Given the description of an element on the screen output the (x, y) to click on. 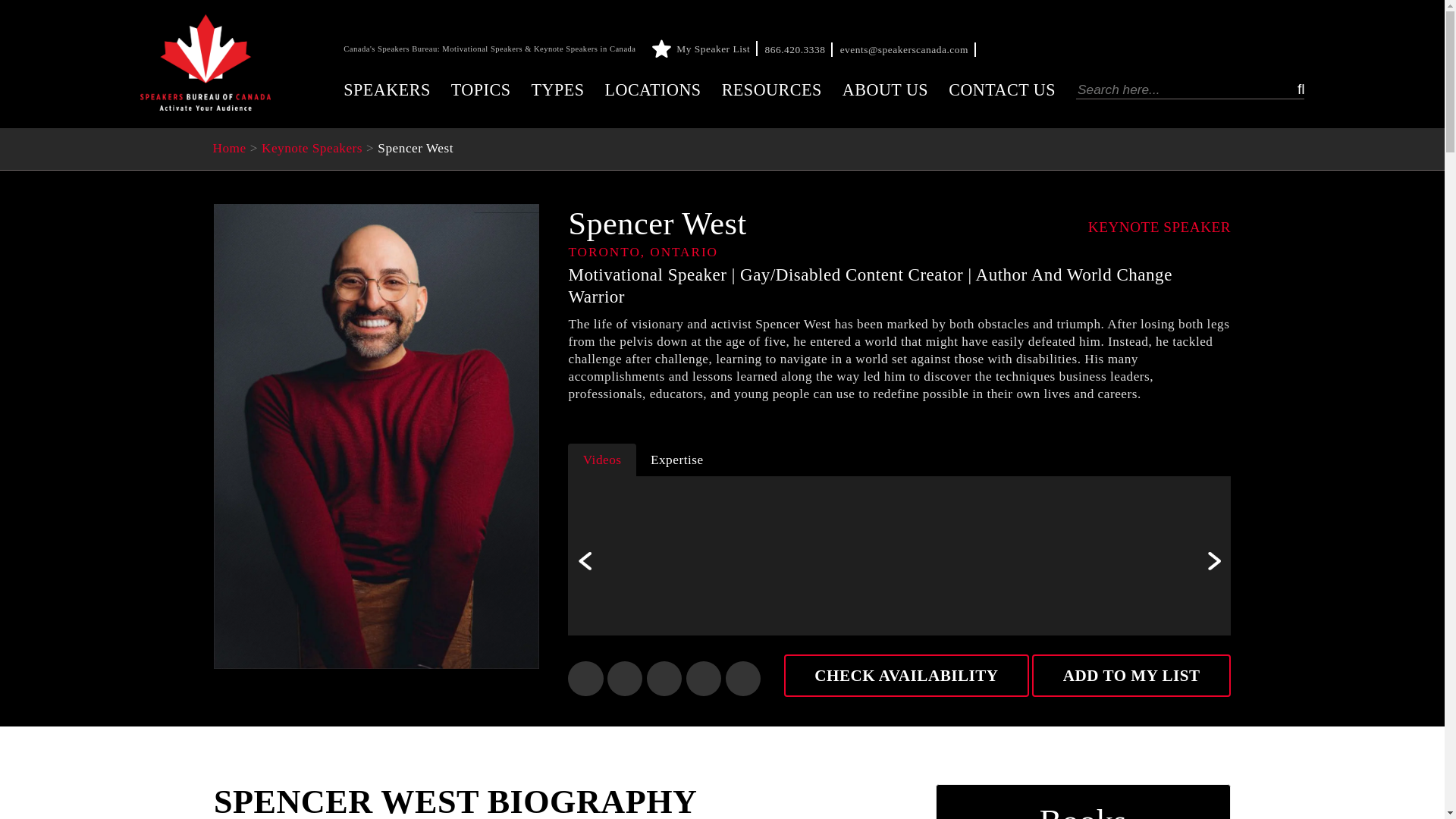
TYPES (557, 89)
ABOUT US (885, 89)
LOCATIONS (652, 89)
Home (229, 147)
TOPICS (481, 89)
Keynote Speakers (312, 147)
866.420.3338 (798, 49)
RESOURCES (772, 89)
My Speaker List (707, 49)
SPEAKERS (386, 89)
